Given the description of an element on the screen output the (x, y) to click on. 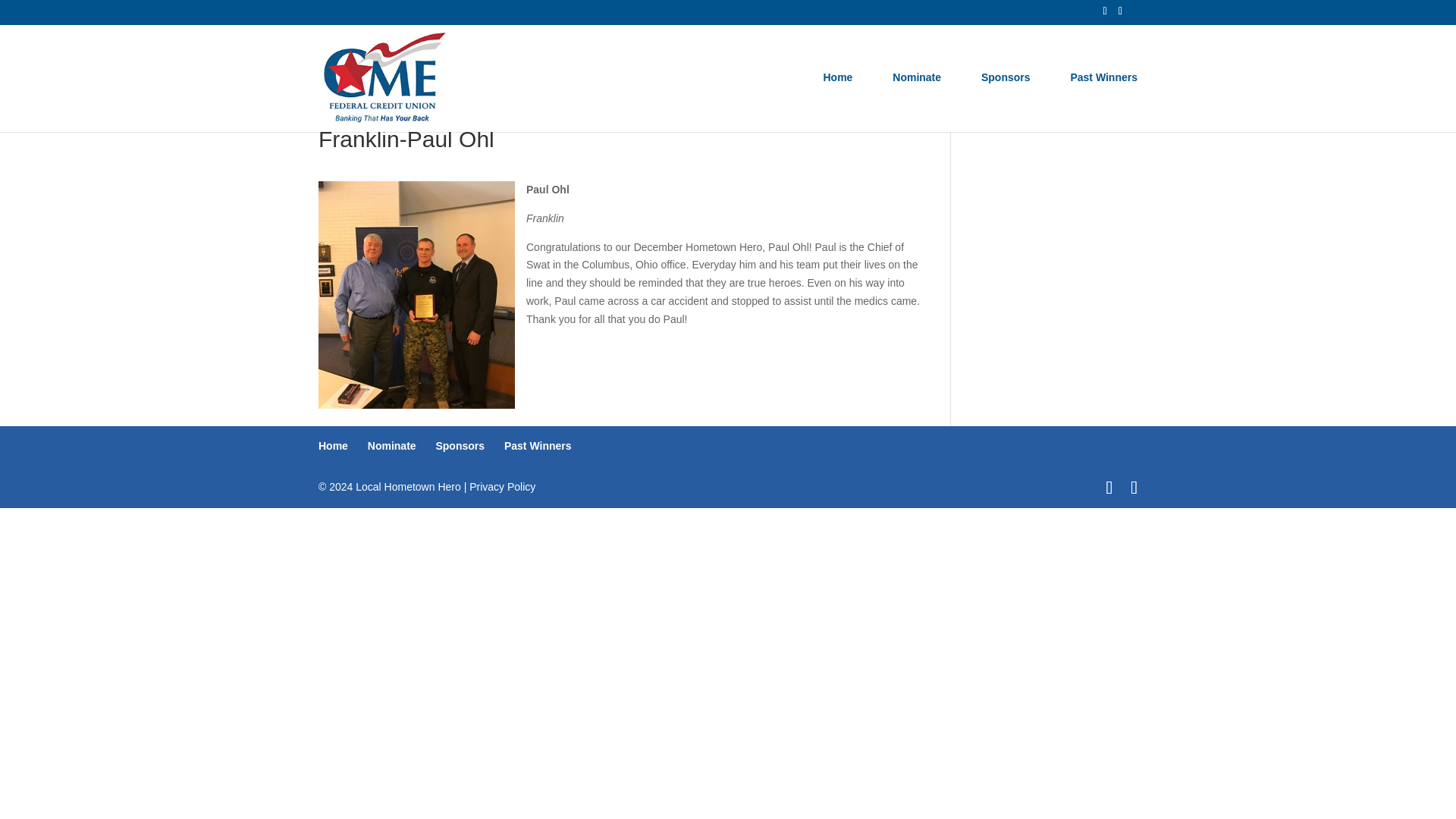
Past Winners (537, 445)
Nominate (392, 445)
Privacy Policy (501, 486)
Sponsors (459, 445)
Past Winners (1103, 101)
Home (332, 445)
